Given the description of an element on the screen output the (x, y) to click on. 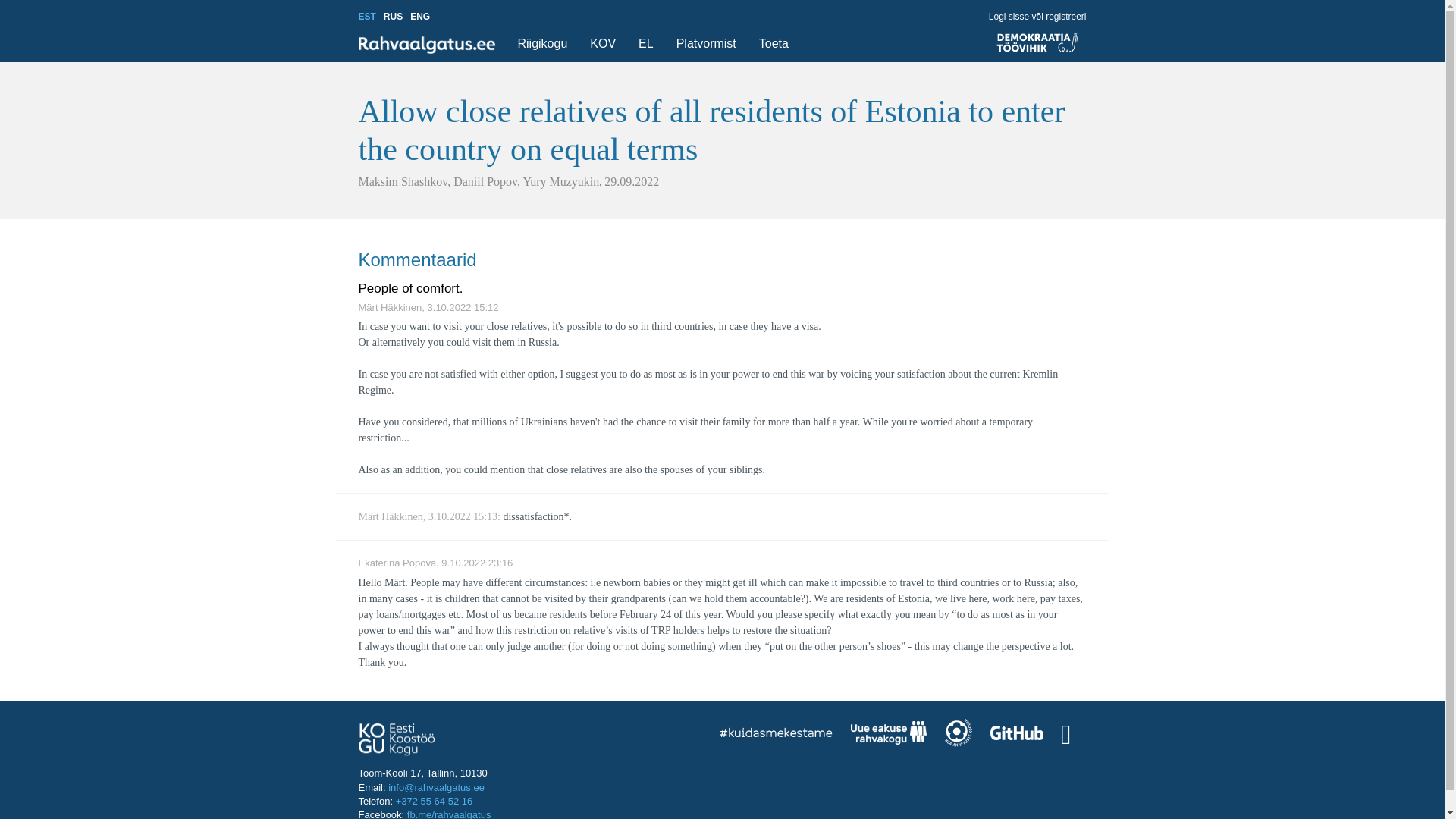
Rahvaalgatuse arendus toimub GitHubis. (1016, 734)
Uue eakuse rahvakogu (888, 734)
9.10.2022 23:16 (476, 562)
EST (366, 16)
Toeta (773, 43)
Platvormist (706, 43)
People of comfort. (410, 288)
KOV (602, 43)
RUS (393, 16)
EL (645, 43)
ENG (419, 16)
3.10.2022 15:12 (463, 307)
Riigikogu (542, 43)
3.10.2022 15:13 (462, 516)
